Given the description of an element on the screen output the (x, y) to click on. 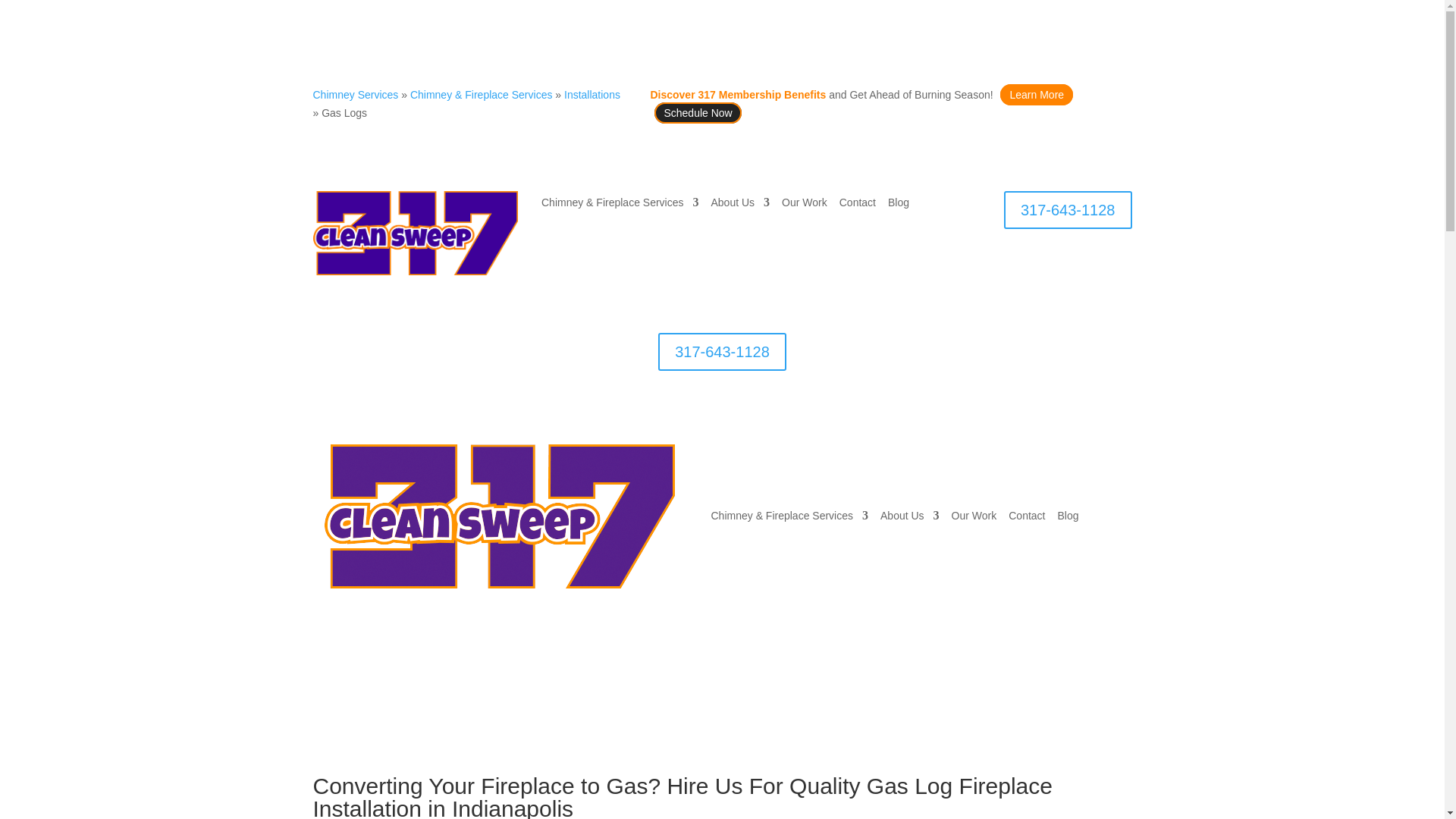
Blog (898, 205)
Clean Sweep 317 Logo (414, 232)
Learn More (1036, 94)
Contact (858, 205)
About Us (740, 205)
Installations (592, 94)
Chimney Services (355, 94)
Our Work (804, 205)
Schedule Now (697, 112)
